Given the description of an element on the screen output the (x, y) to click on. 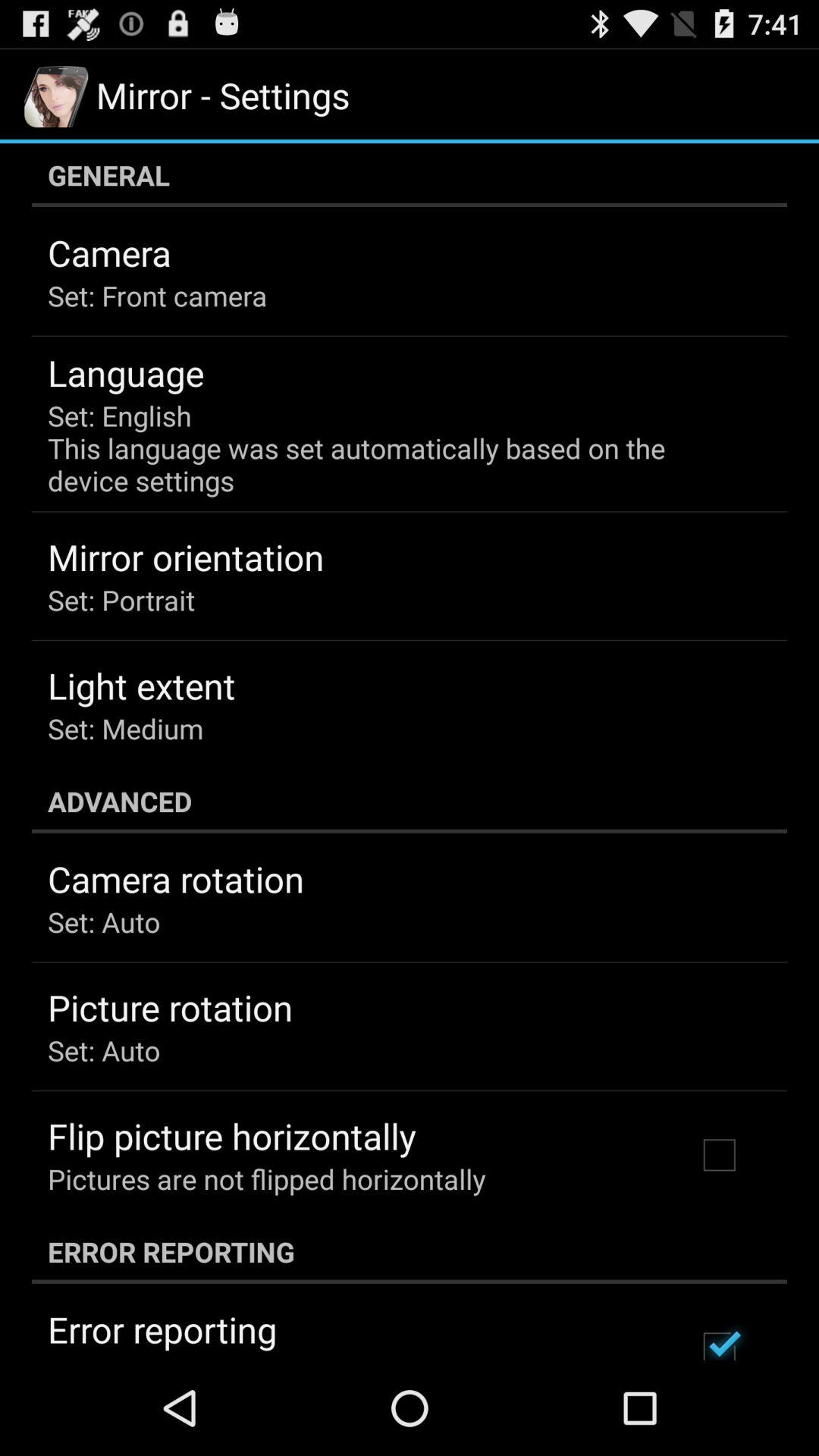
tap item below the flip picture horizontally item (266, 1178)
